Given the description of an element on the screen output the (x, y) to click on. 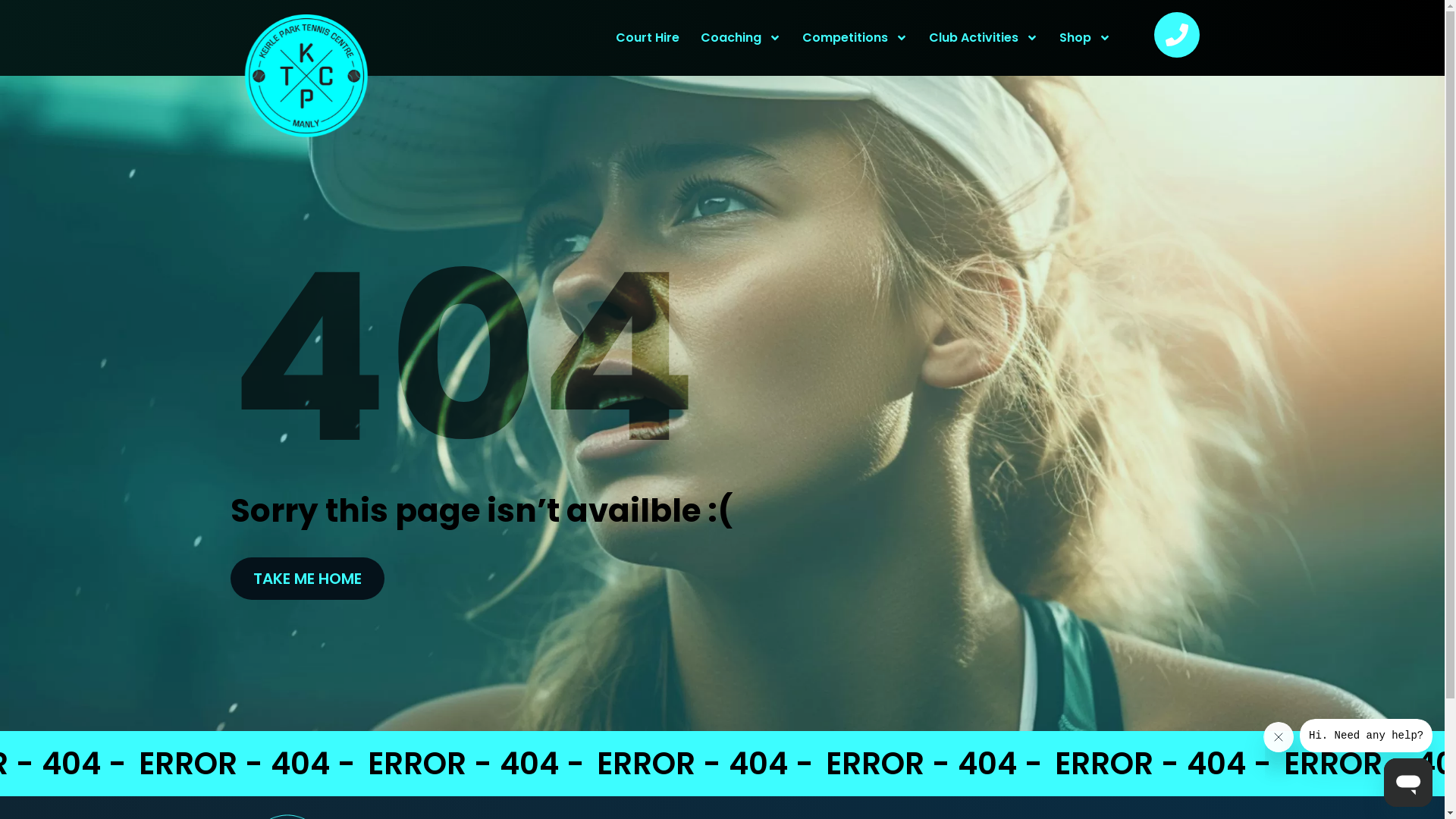
Message from company Element type: hover (1365, 735)
Button to launch messaging window Element type: hover (1407, 782)
Coaching Element type: text (740, 37)
Shop Element type: text (1084, 37)
TAKE ME HOME Element type: text (307, 578)
Club Activities Element type: text (983, 37)
Court Hire Element type: text (647, 37)
Close message Element type: hover (1278, 736)
Competitions Element type: text (854, 37)
